Given the description of an element on the screen output the (x, y) to click on. 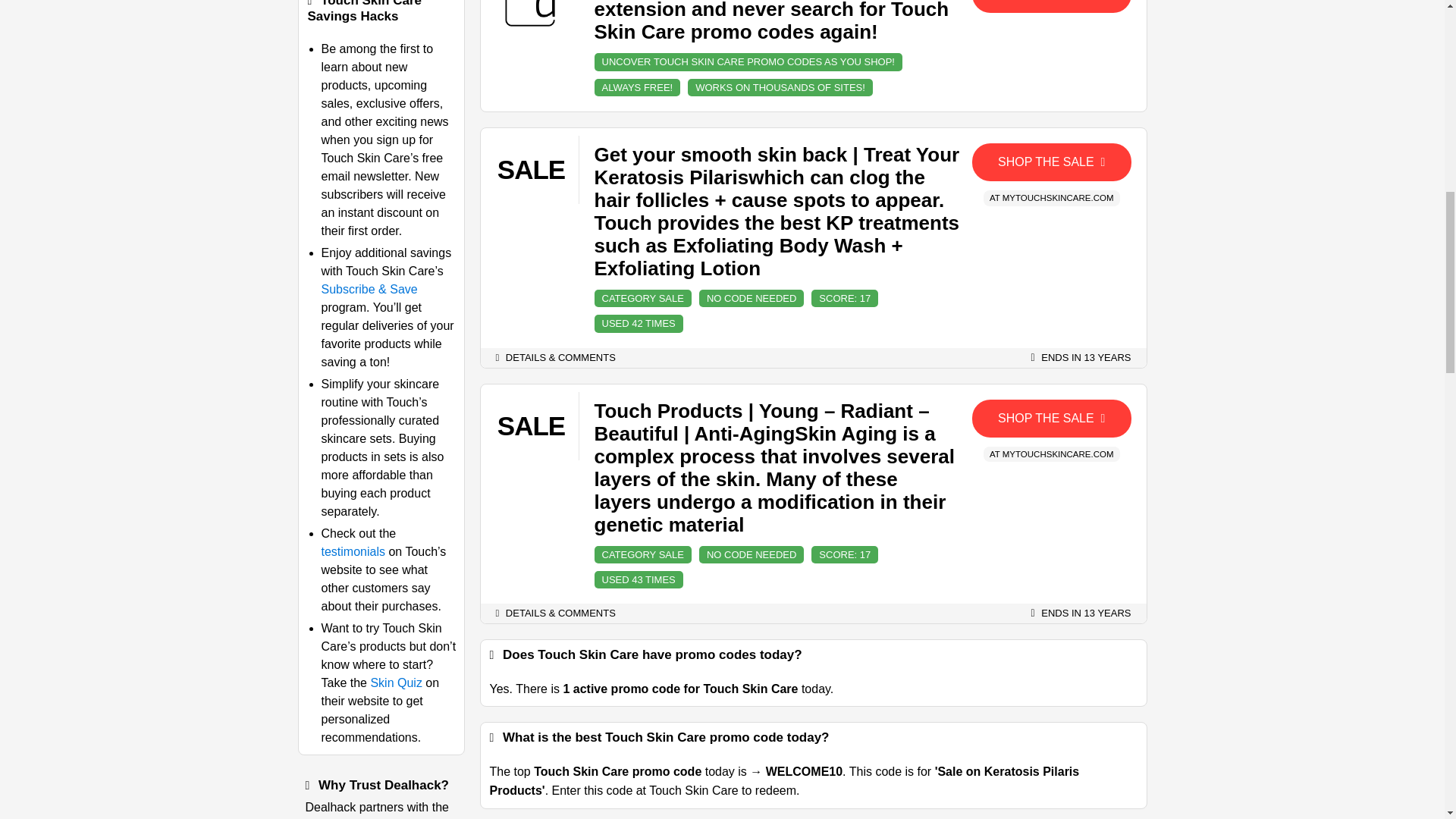
Click to open site (1051, 6)
